Given the description of an element on the screen output the (x, y) to click on. 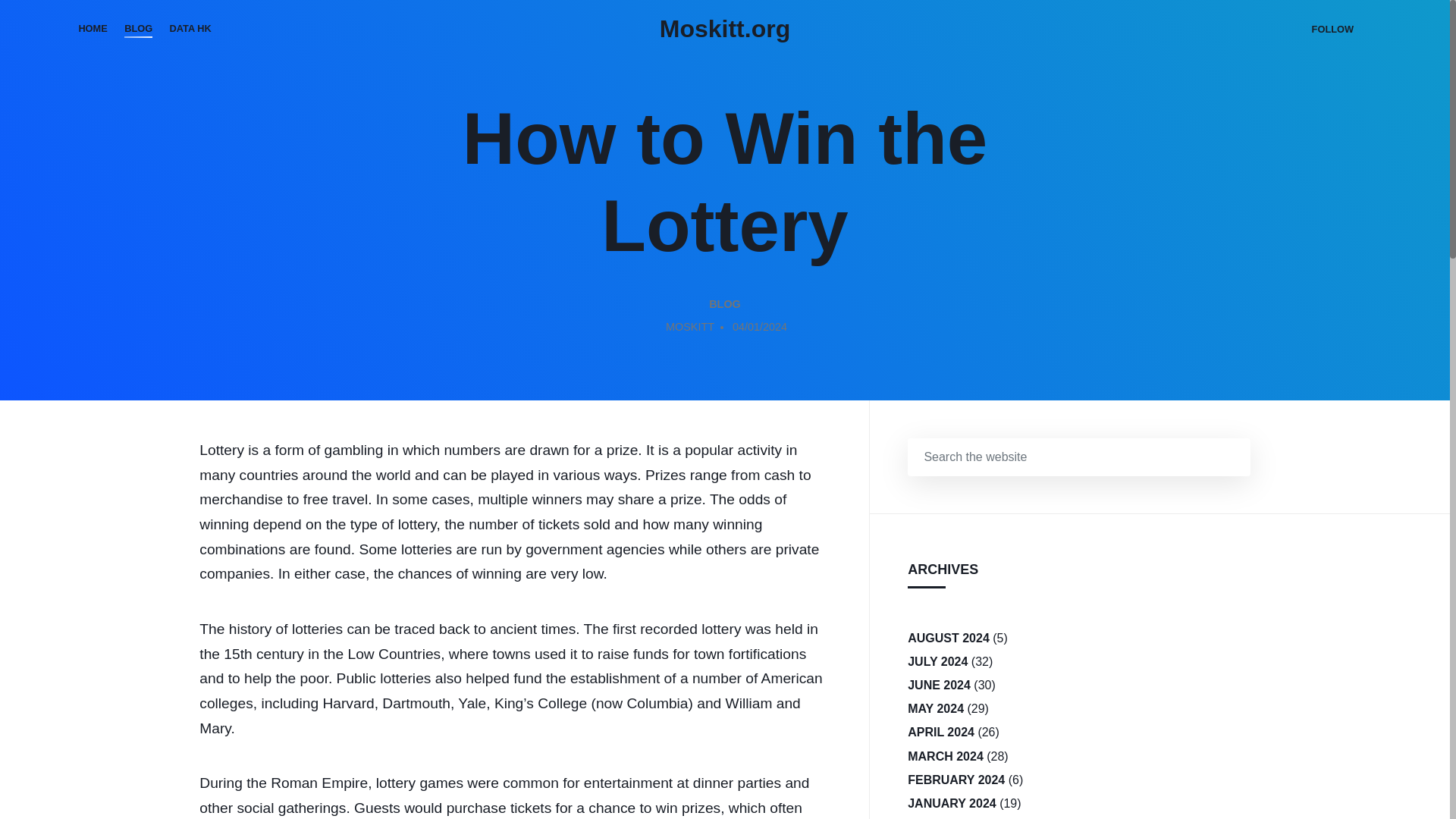
Moskitt.org (724, 28)
JULY 2024 (937, 661)
Blog (138, 28)
APRIL 2024 (940, 731)
Blog (725, 305)
DECEMBER 2023 (957, 816)
Moskitt.org (724, 28)
FOLLOW (1332, 29)
FEBRUARY 2024 (955, 779)
BLOG (725, 305)
JANUARY 2024 (951, 802)
JUNE 2024 (939, 684)
MOSKITT (689, 328)
HOME (92, 28)
DATA HK (189, 28)
